Given the description of an element on the screen output the (x, y) to click on. 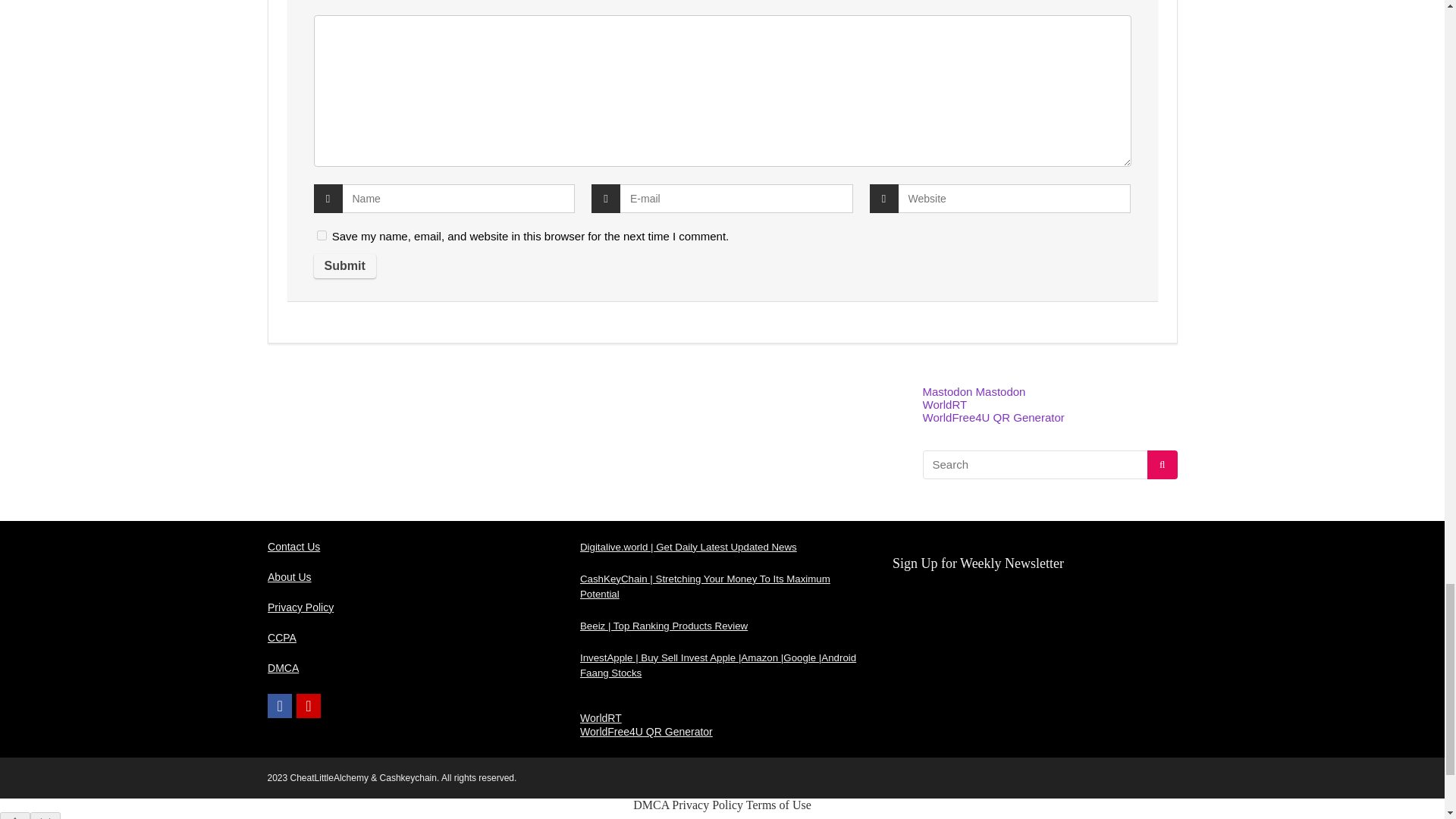
yes (321, 235)
Submit (344, 265)
